Given the description of an element on the screen output the (x, y) to click on. 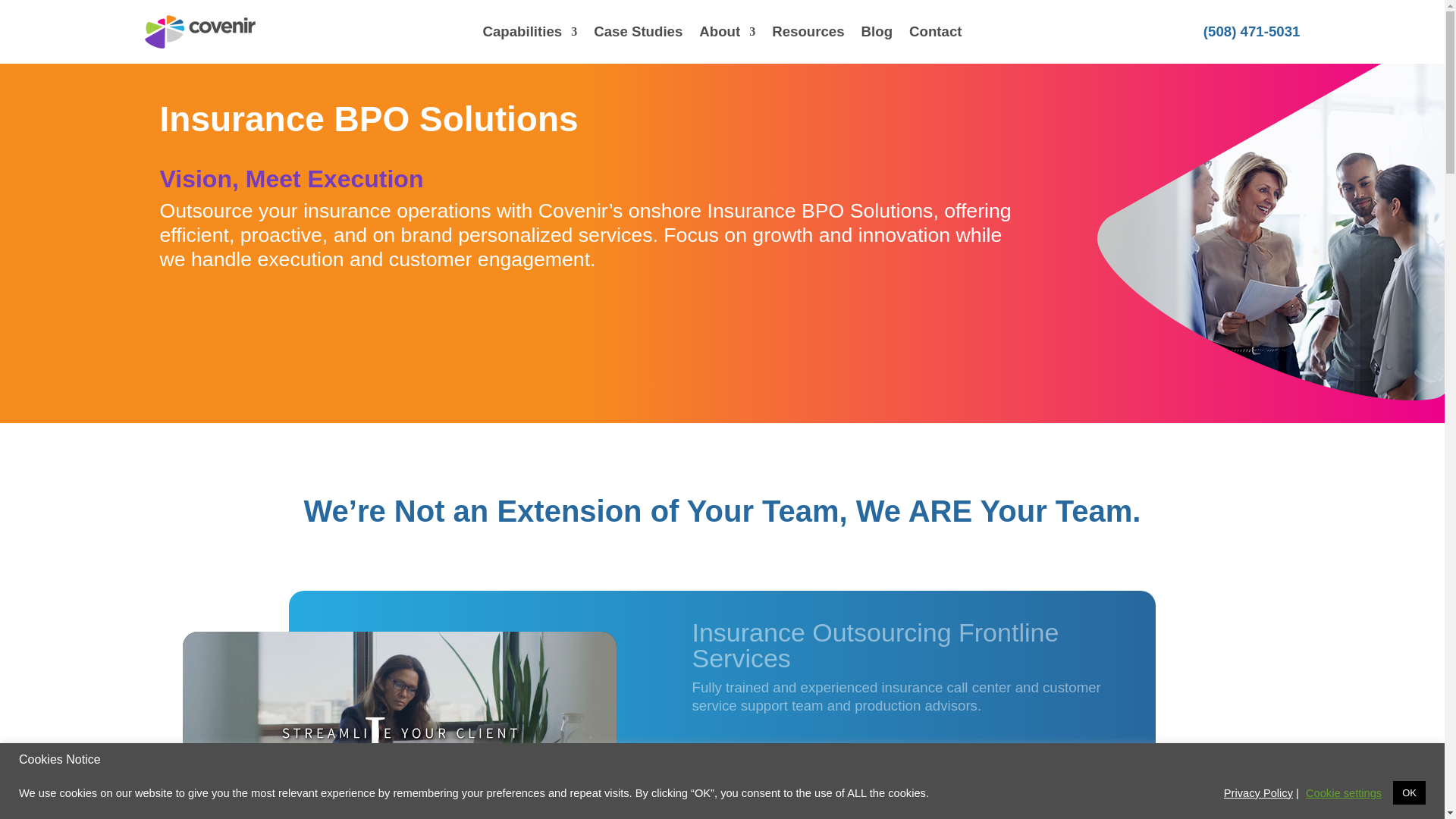
logo (199, 31)
Blog (876, 34)
Resources (807, 34)
Case Studies (638, 34)
About (726, 34)
Capabilities (528, 34)
Contact (934, 34)
